Given the description of an element on the screen output the (x, y) to click on. 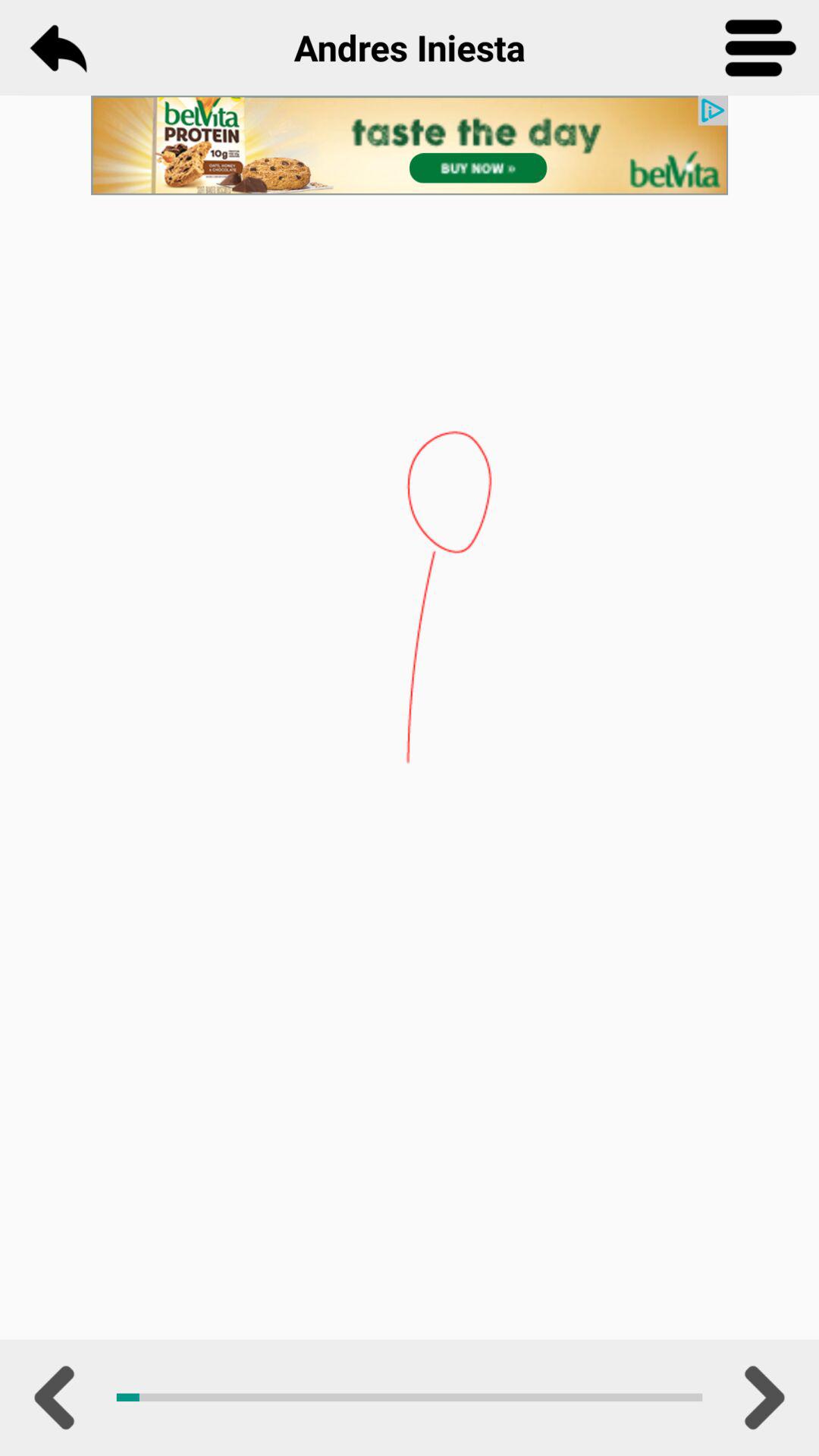
go to next (760, 1397)
